Given the description of an element on the screen output the (x, y) to click on. 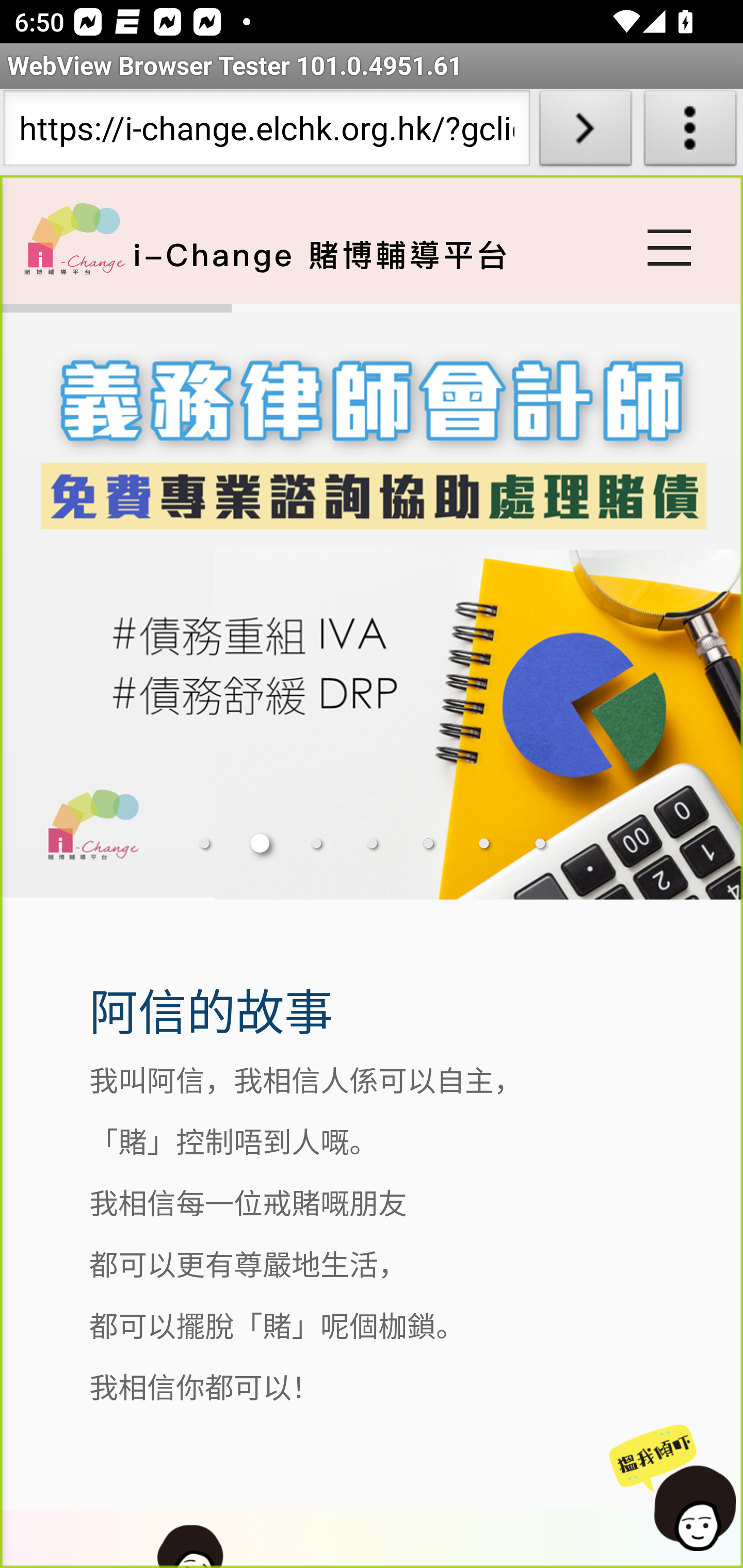
Load URL (585, 132)
About WebView (690, 132)
Home (74, 238)
Chat Now (674, 1488)
